Given the description of an element on the screen output the (x, y) to click on. 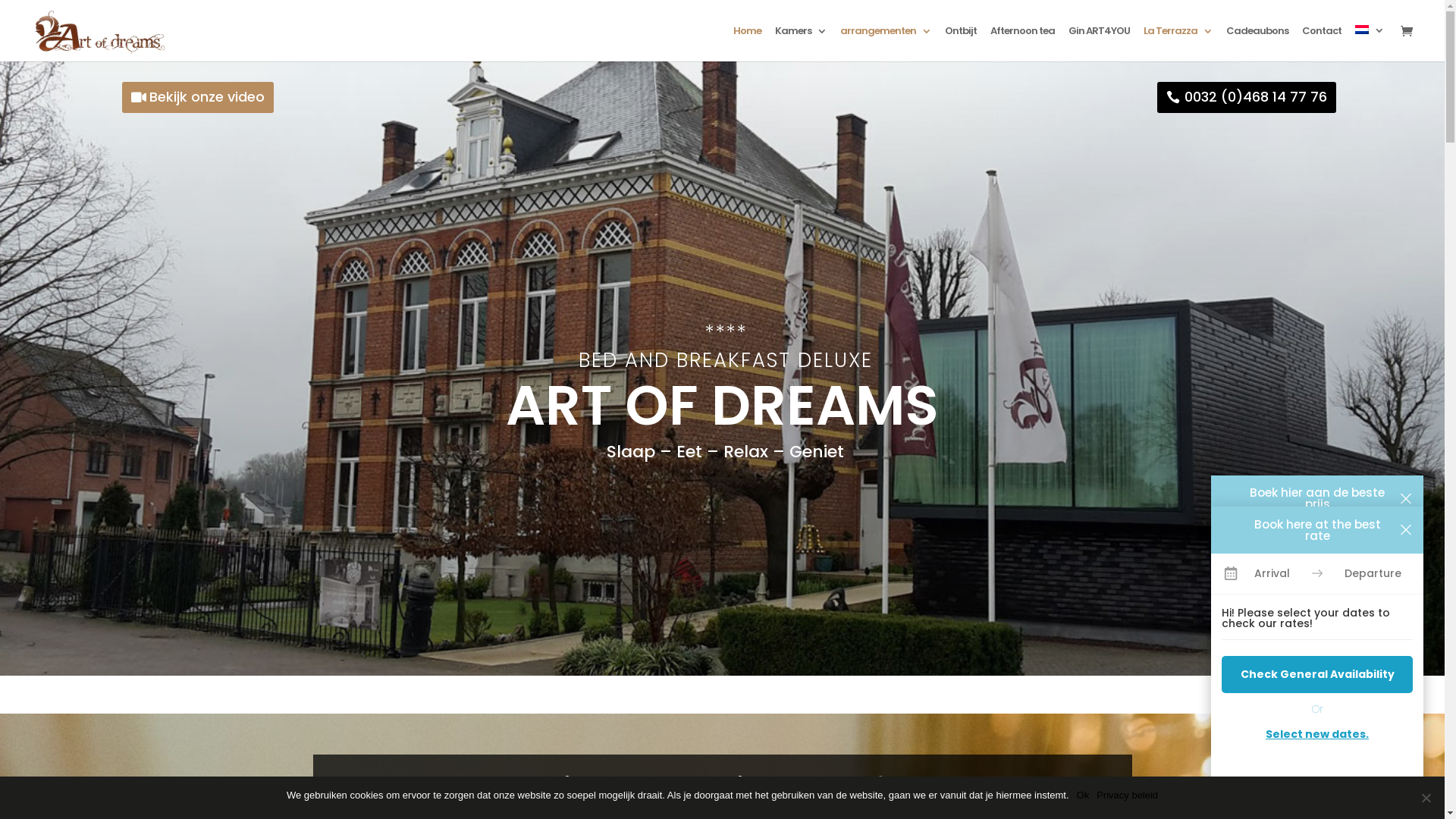
Ontbijt Element type: text (960, 43)
Kamers Element type: text (800, 43)
Afternoon tea Element type: text (1022, 43)
Home Element type: text (747, 43)
Selecteer nieuwe data om opnieuw te proberen. Element type: text (1316, 727)
Contact Element type: text (1321, 43)
Gin ART4YOU Element type: text (1098, 43)
arrangementen Element type: text (885, 43)
La Terrazza Element type: text (1177, 43)
Select new dates. Element type: text (1316, 734)
Cubilis Element type: text (1343, 803)
0032 (0)468 14 77 76 Element type: text (1246, 96)
Ok Element type: text (1082, 795)
Nee Element type: hover (1425, 797)
Privacy beleid Element type: text (1126, 795)
Check General Availability Element type: text (1316, 674)
Bekijk onze video Element type: text (198, 96)
Cadeaubons Element type: text (1257, 43)
Controleer algemene beschikbaarheid Element type: text (1316, 650)
